Given the description of an element on the screen output the (x, y) to click on. 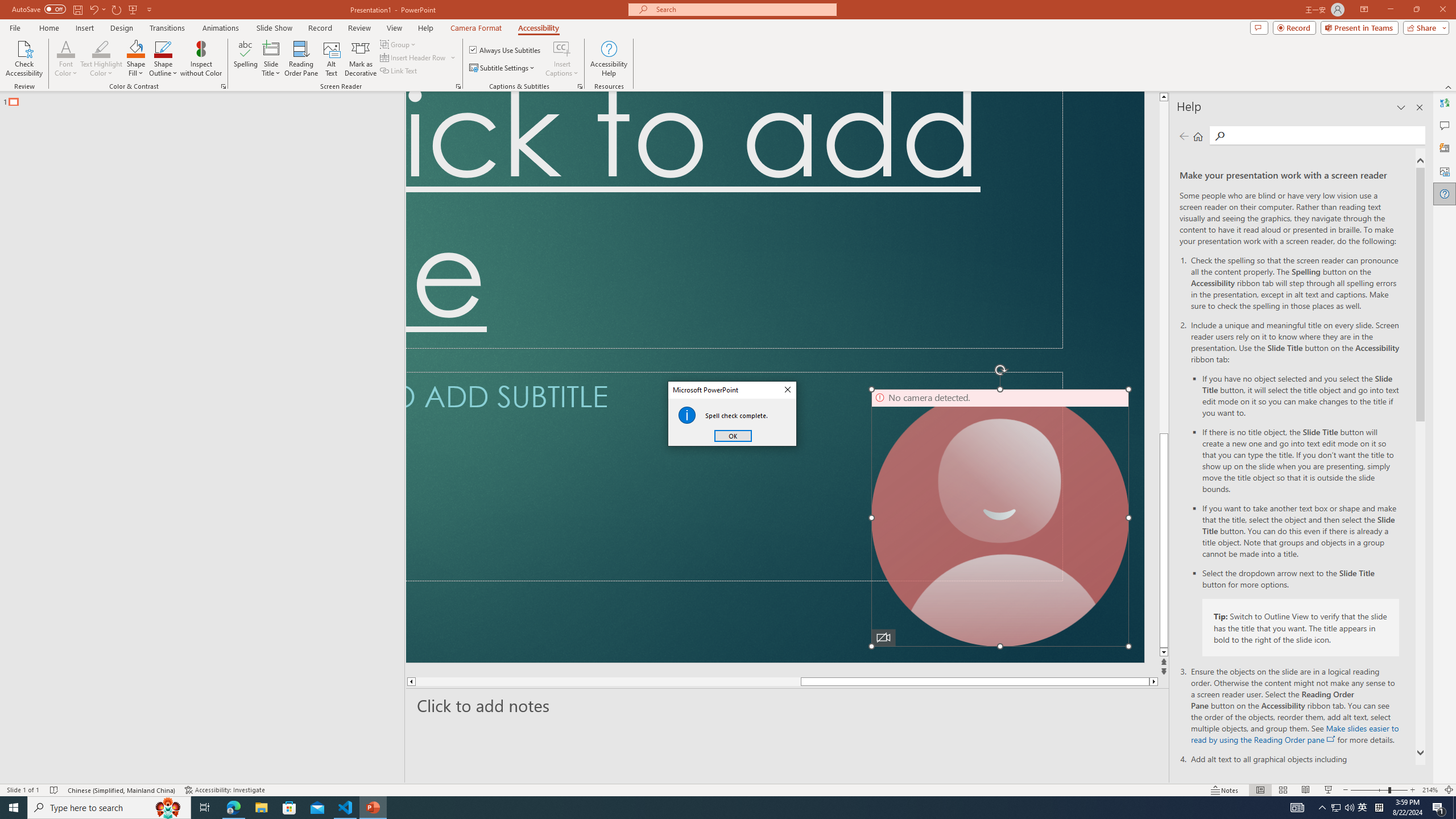
Pin this item to the list (1000, 781)
Class: Image (1277, 800)
Open (59, 211)
Get Add-ins (59, 286)
Page down (1448, 740)
Share (59, 242)
